Given the description of an element on the screen output the (x, y) to click on. 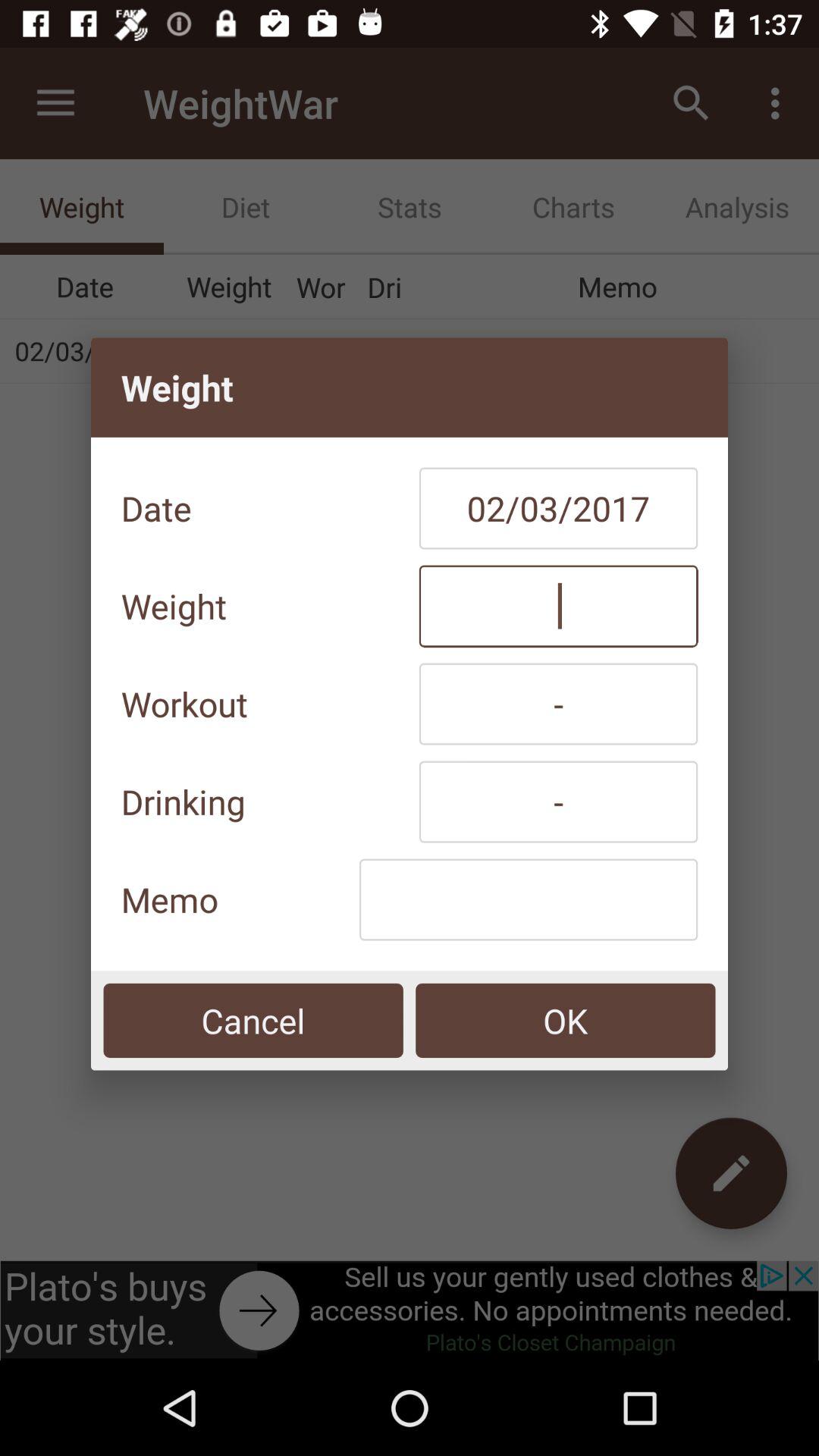
launch the icon next to ok item (253, 1020)
